Given the description of an element on the screen output the (x, y) to click on. 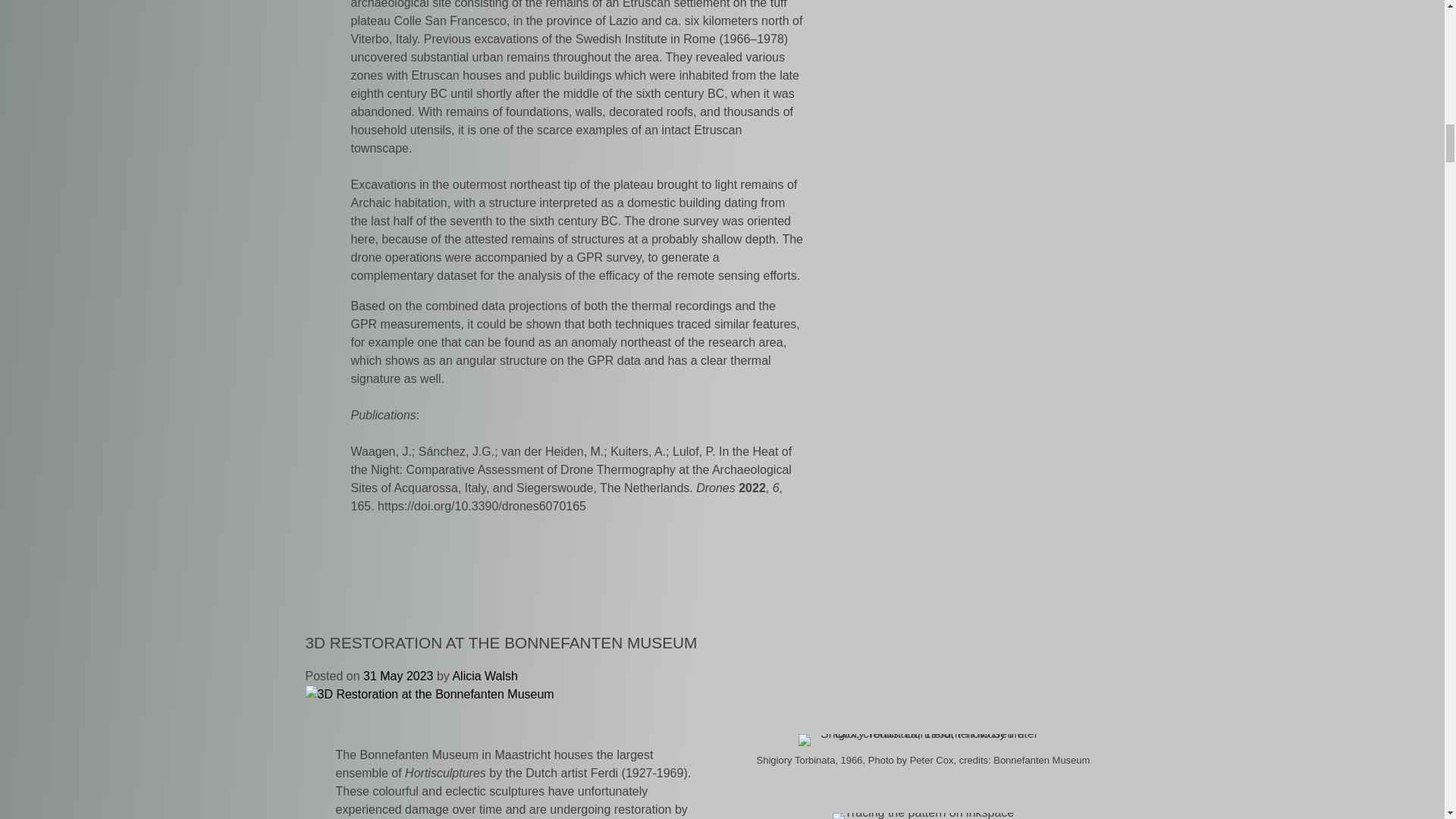
31 May 2023 (397, 675)
shigiory Torbinata (922, 739)
3D RESTORATION AT THE BONNEFANTEN MUSEUM (500, 642)
Alicia Walsh (484, 675)
